Given the description of an element on the screen output the (x, y) to click on. 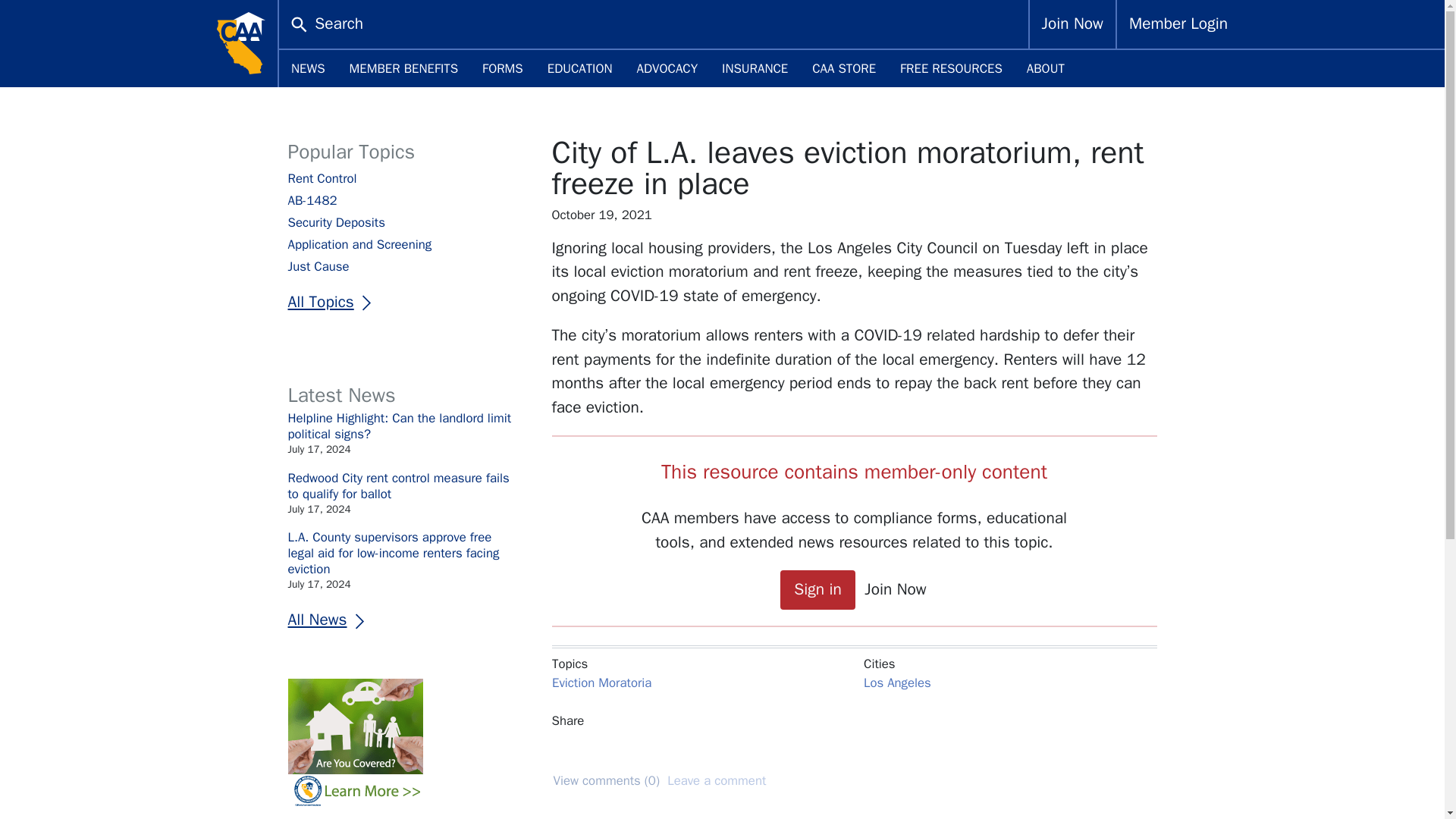
CAA STORE (843, 67)
October 19, 2021 at 3:20 pm (854, 214)
INSURANCE (754, 67)
EDUCATION (579, 67)
MEMBER BENEFITS (403, 67)
ADVOCACY (667, 67)
FREE RESOURCES (951, 67)
NEWS (308, 67)
FORMS (502, 67)
Join Now (1072, 24)
Member Login (1178, 24)
